Given the description of an element on the screen output the (x, y) to click on. 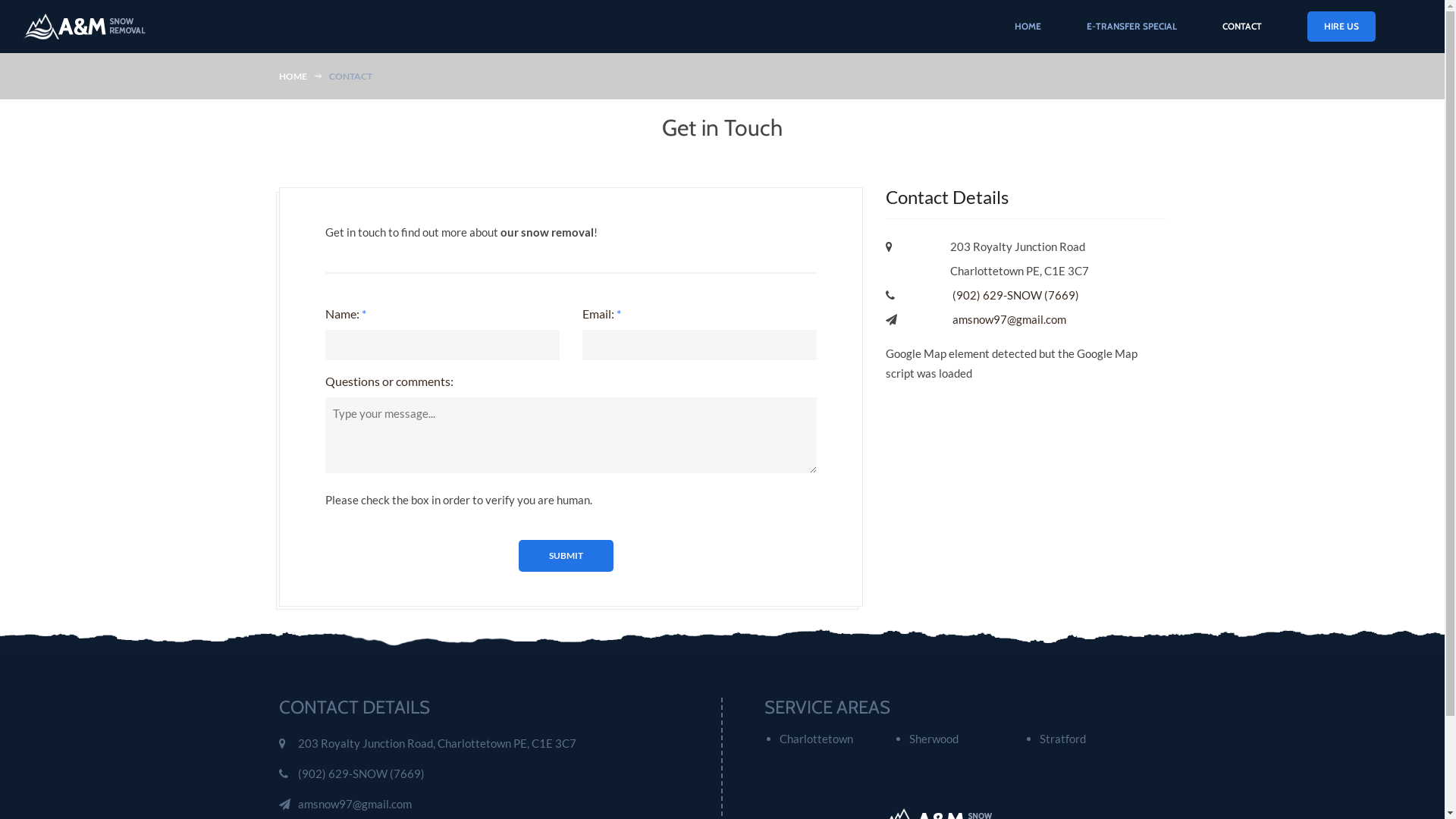
CONTACT Element type: text (354, 75)
SUBMIT Element type: text (565, 555)
HOME Element type: text (1027, 24)
CONTACT Element type: text (1241, 29)
HIRE US Element type: text (1341, 26)
HOME Element type: text (296, 75)
amsnow97@gmail.com Element type: text (1009, 319)
amsnow97@gmail.com Element type: text (354, 803)
(902) 629-SNOW (7669) Element type: text (360, 773)
E-TRANSFER SPECIAL Element type: text (1131, 24)
(902) 629-SNOW (7669) Element type: text (1015, 294)
